Given the description of an element on the screen output the (x, y) to click on. 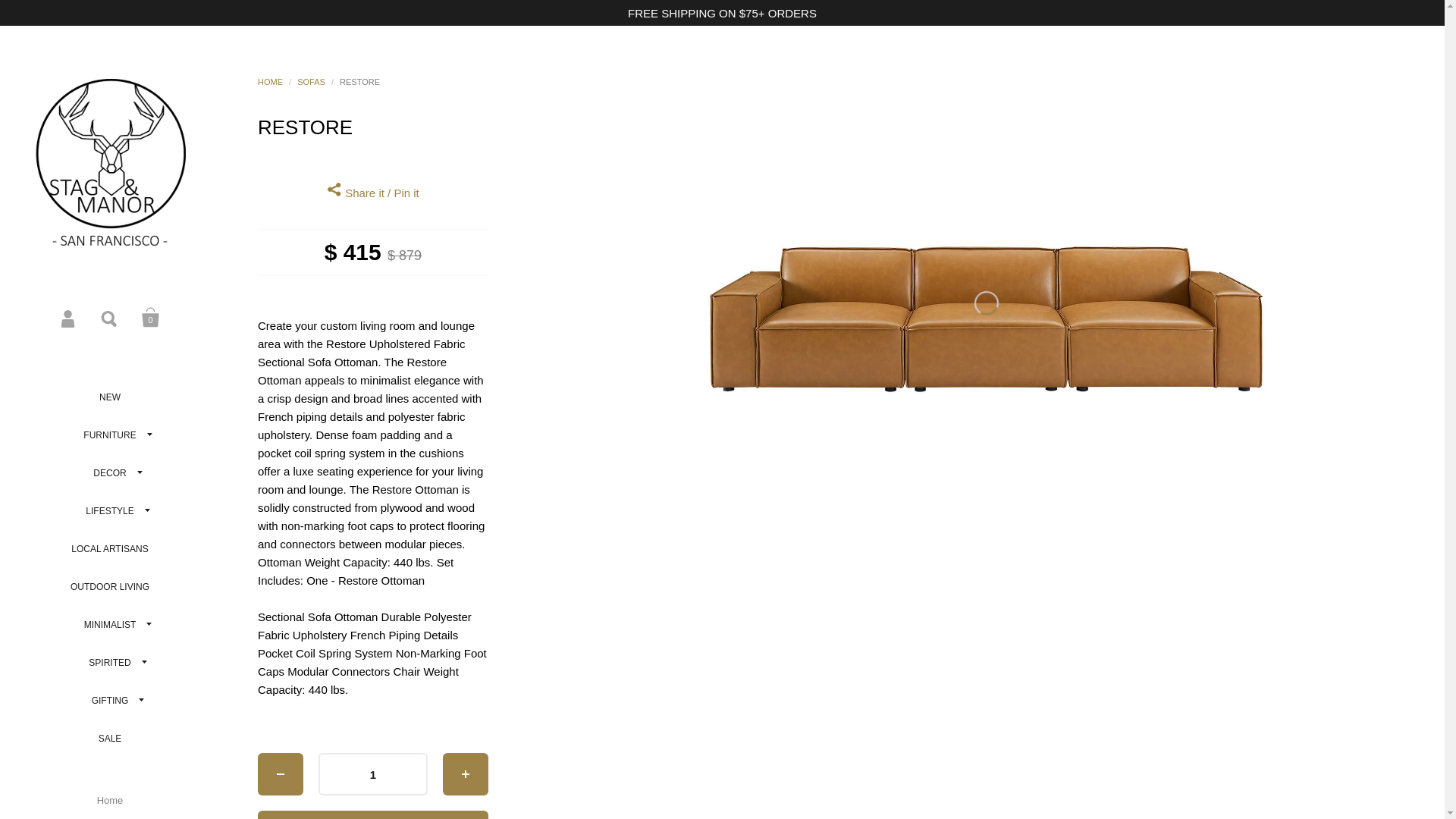
Cart (150, 317)
FURNITURE (109, 435)
DECOR (109, 473)
1 (373, 773)
Account (68, 317)
NEW (109, 397)
Search (109, 317)
